Given the description of an element on the screen output the (x, y) to click on. 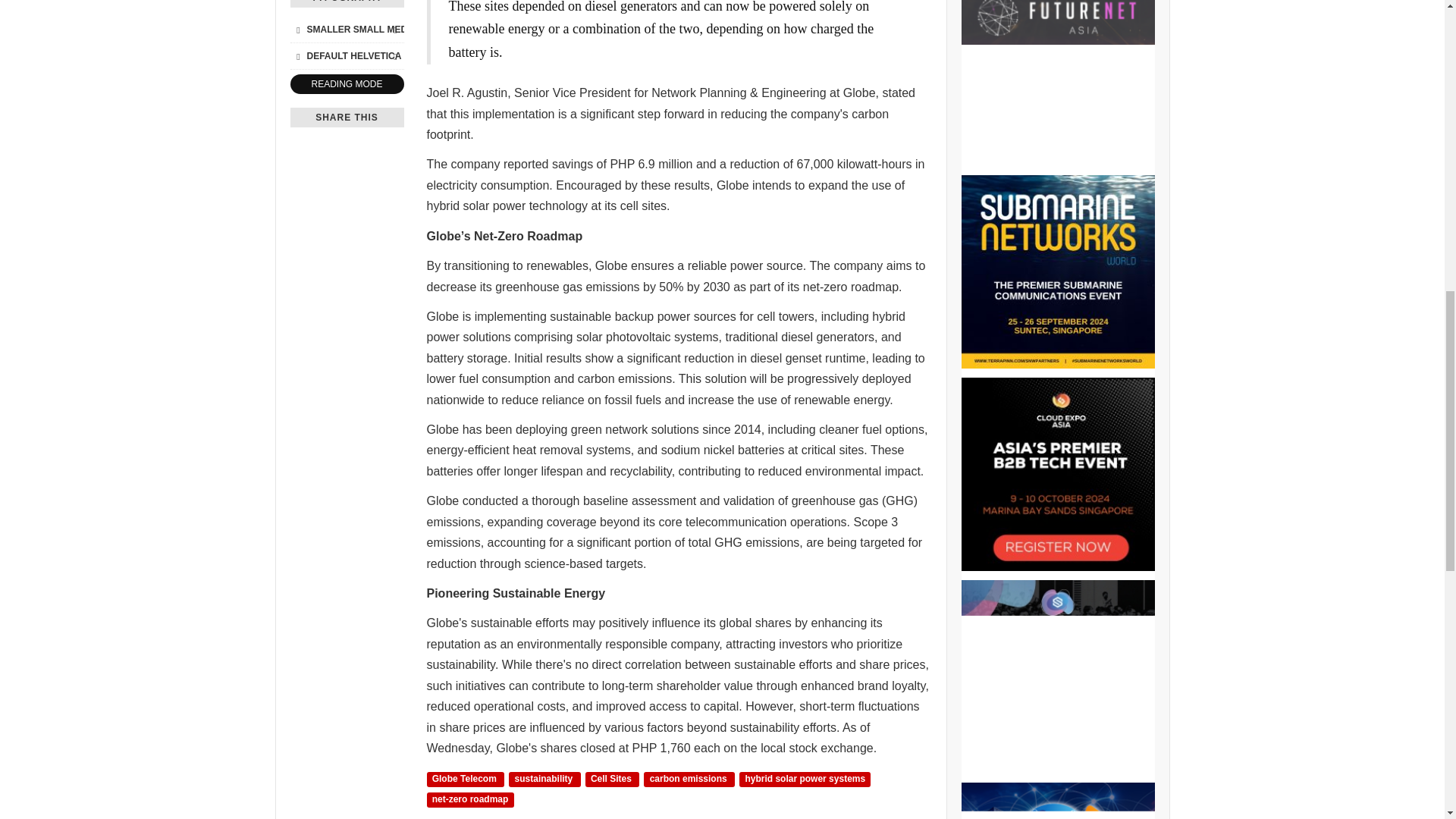
08-2024 Cyber Security World Asia WB (1057, 676)
08-2024 Cloud Expo Asia WB (1057, 473)
Bigger Font (395, 29)
08-2024 GNE 2024 WB (1057, 800)
Reading Mode (346, 84)
Previous Font Style (297, 55)
08-2024 FutureNet Asia WB (1057, 83)
Next Font Style (395, 55)
Smaller Font (297, 29)
08-2024 SNW WB (1057, 271)
